Given the description of an element on the screen output the (x, y) to click on. 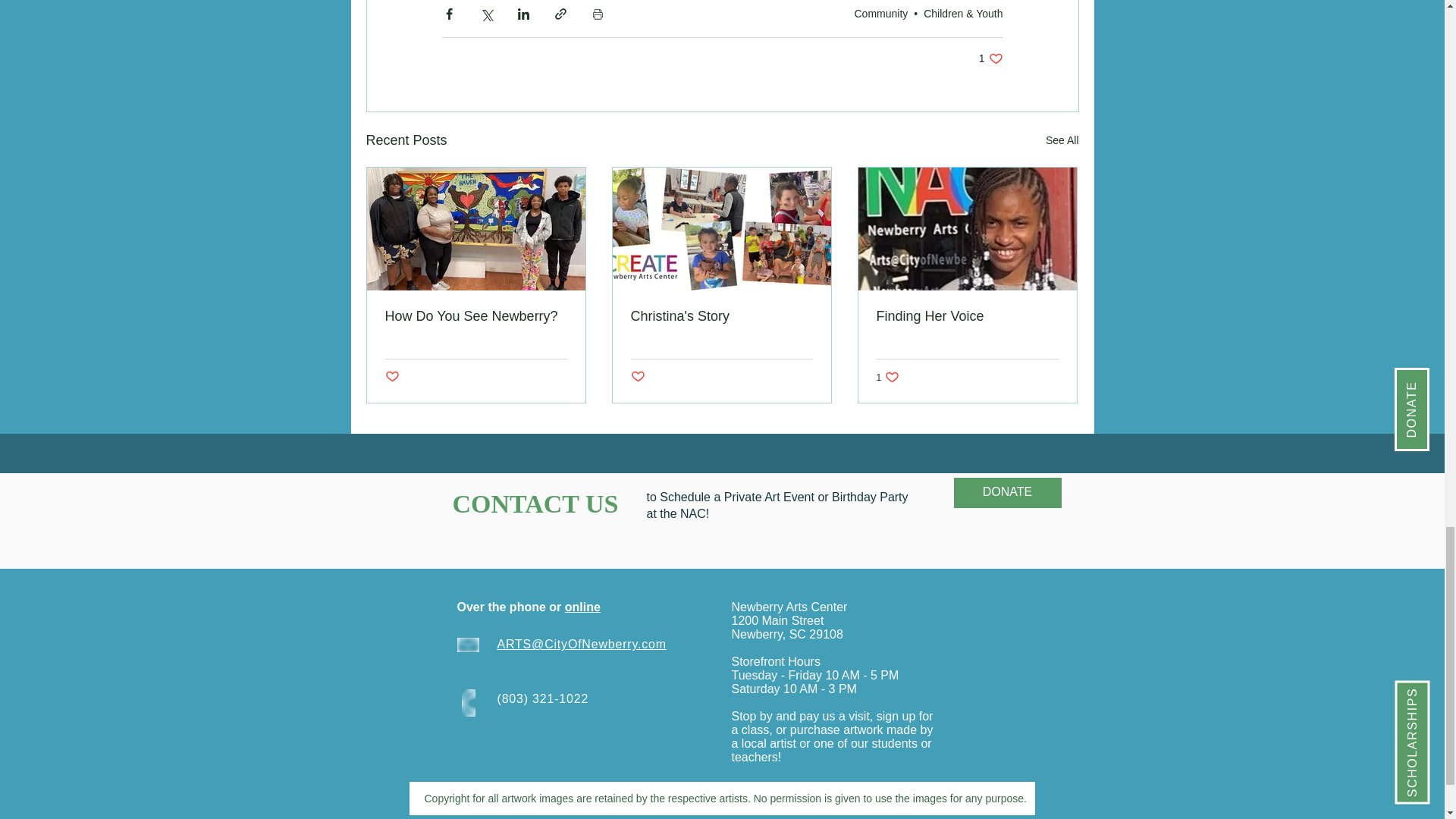
mail.png (990, 58)
Community (468, 644)
